Given the description of an element on the screen output the (x, y) to click on. 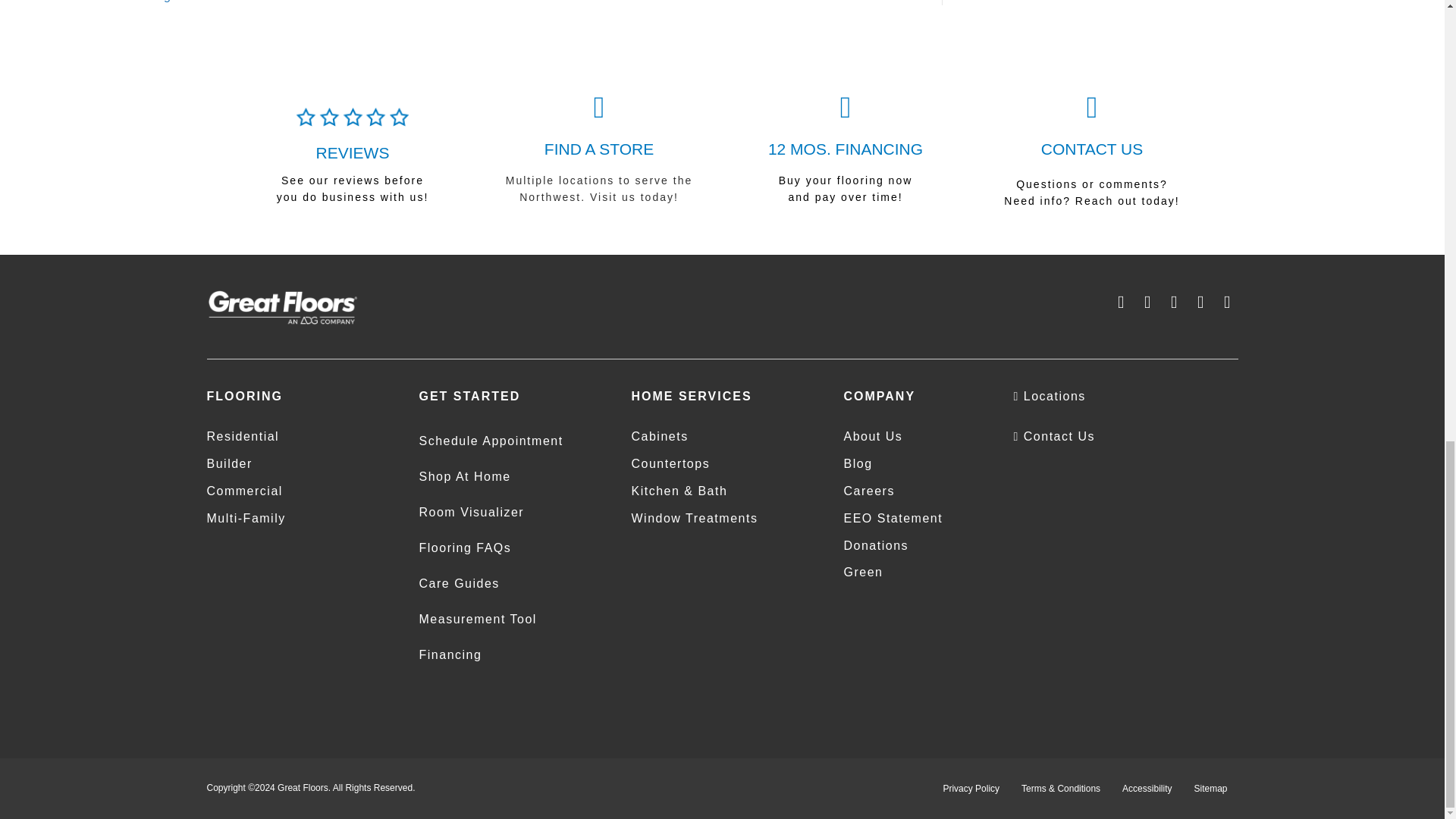
GET STARTED (469, 395)
white-gf-logo (282, 307)
FLOORING (244, 395)
five-star-reviews (352, 116)
HOME SERVICES (690, 395)
Company (879, 395)
